Given the description of an element on the screen output the (x, y) to click on. 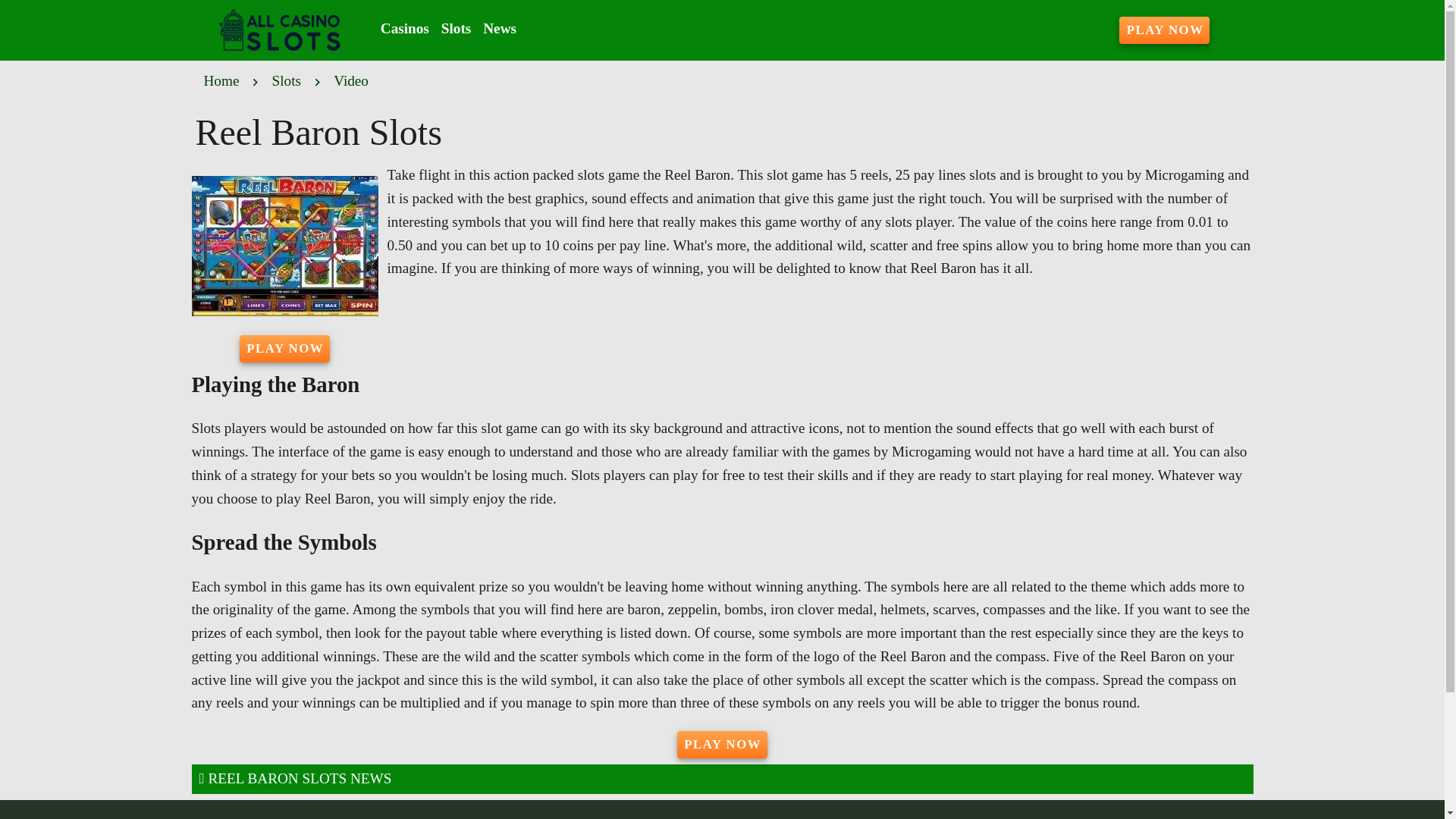
PLAY NOW (285, 348)
Casinos (404, 28)
Slots (456, 28)
Home (220, 80)
PLAY NOW (1164, 30)
3D Slots (729, 816)
Slots (286, 80)
PLAY NOW (722, 744)
News (499, 28)
Video (350, 80)
